Given the description of an element on the screen output the (x, y) to click on. 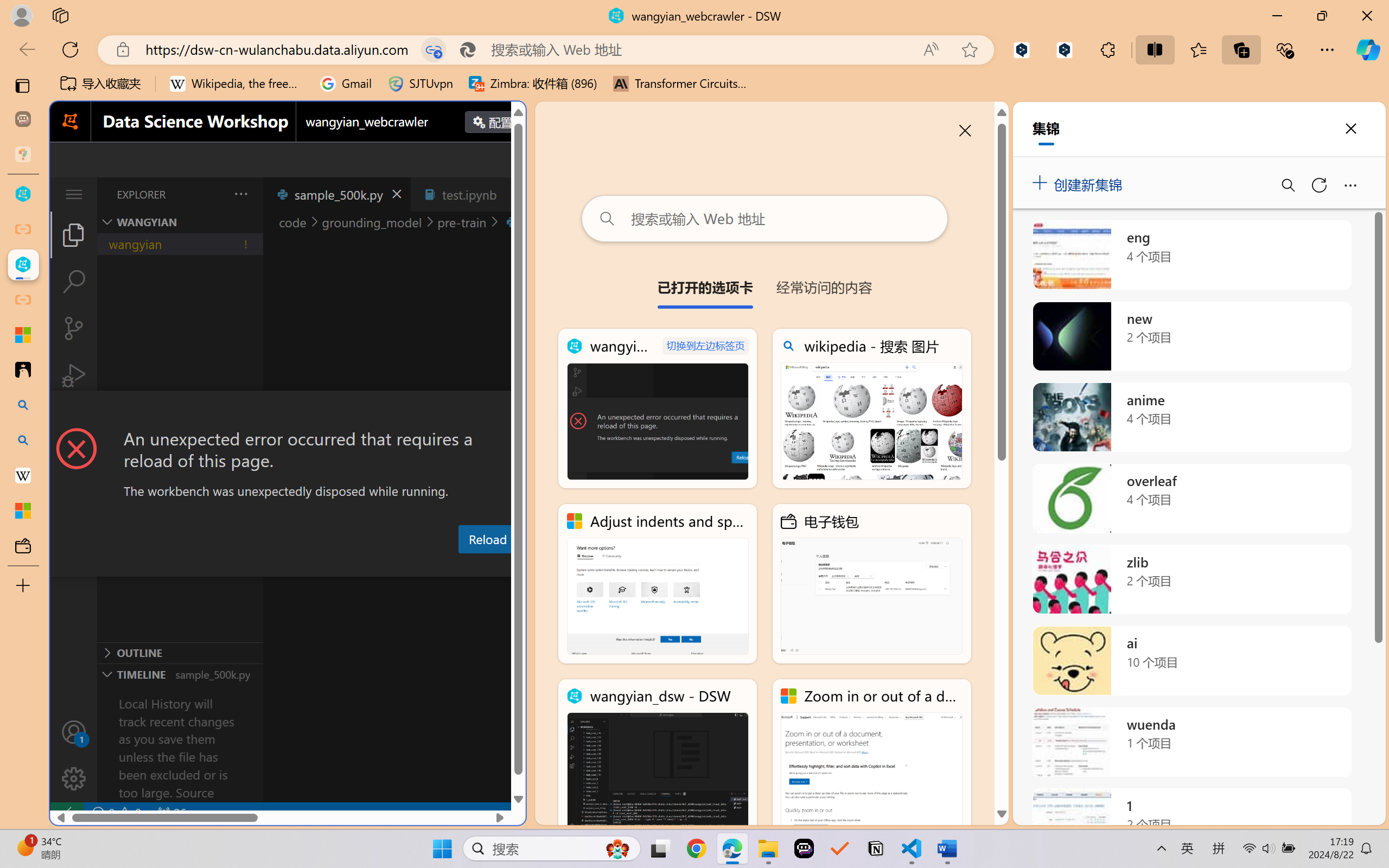
Adjust indents and spacing - Microsoft Support (657, 583)
Explorer Section: wangyian (179, 221)
Timeline Section (179, 673)
Copilot (Ctrl+Shift+.) (1368, 49)
Manage (73, 755)
